Given the description of an element on the screen output the (x, y) to click on. 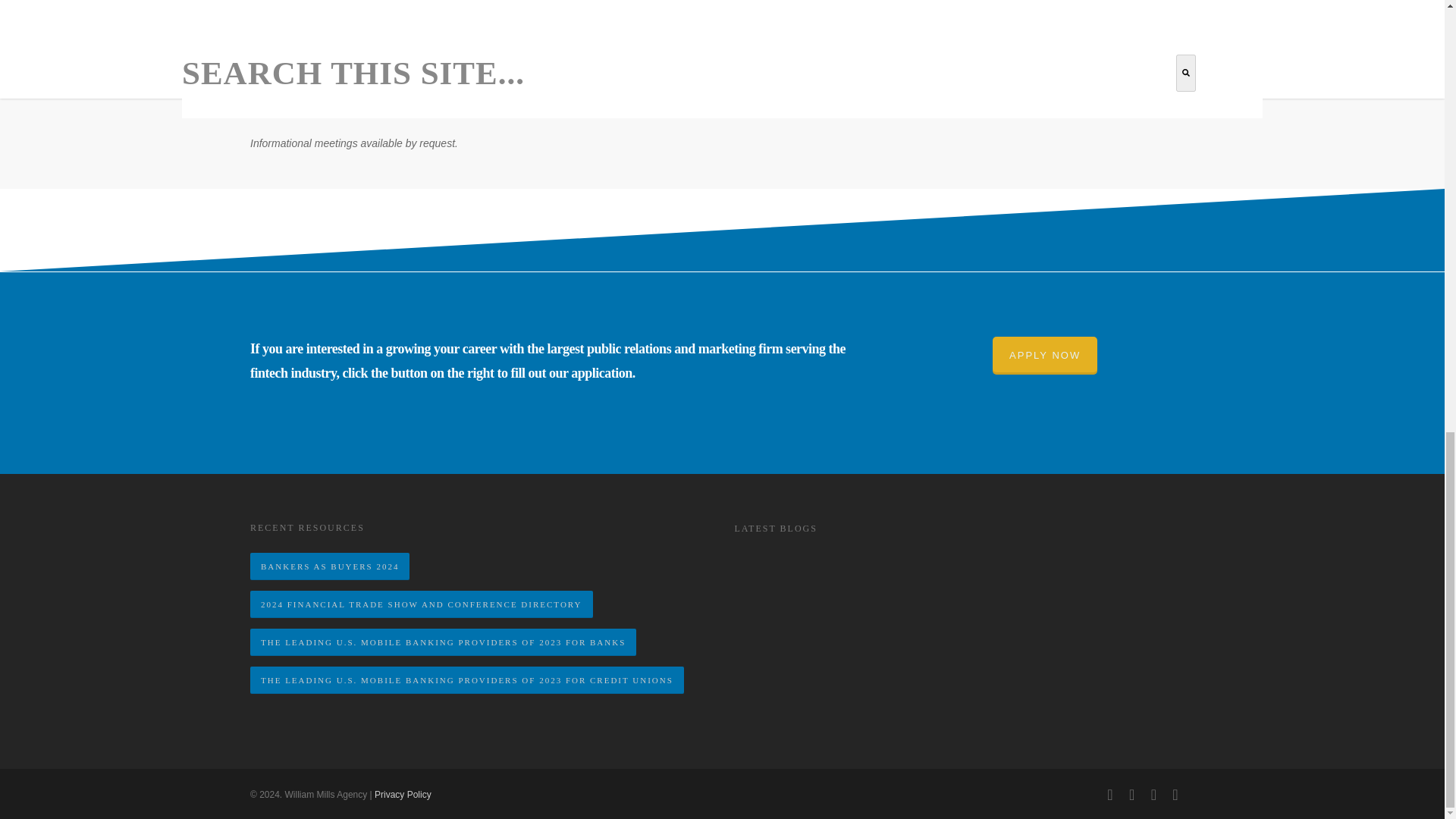
BANKERS AS BUYERS 2024 (329, 565)
2024 FINANCIAL TRADE SHOW AND CONFERENCE DIRECTORY (421, 604)
APPLY NOW (1044, 355)
APPLY FOR AN INTERNSHIP (560, 94)
